Given the description of an element on the screen output the (x, y) to click on. 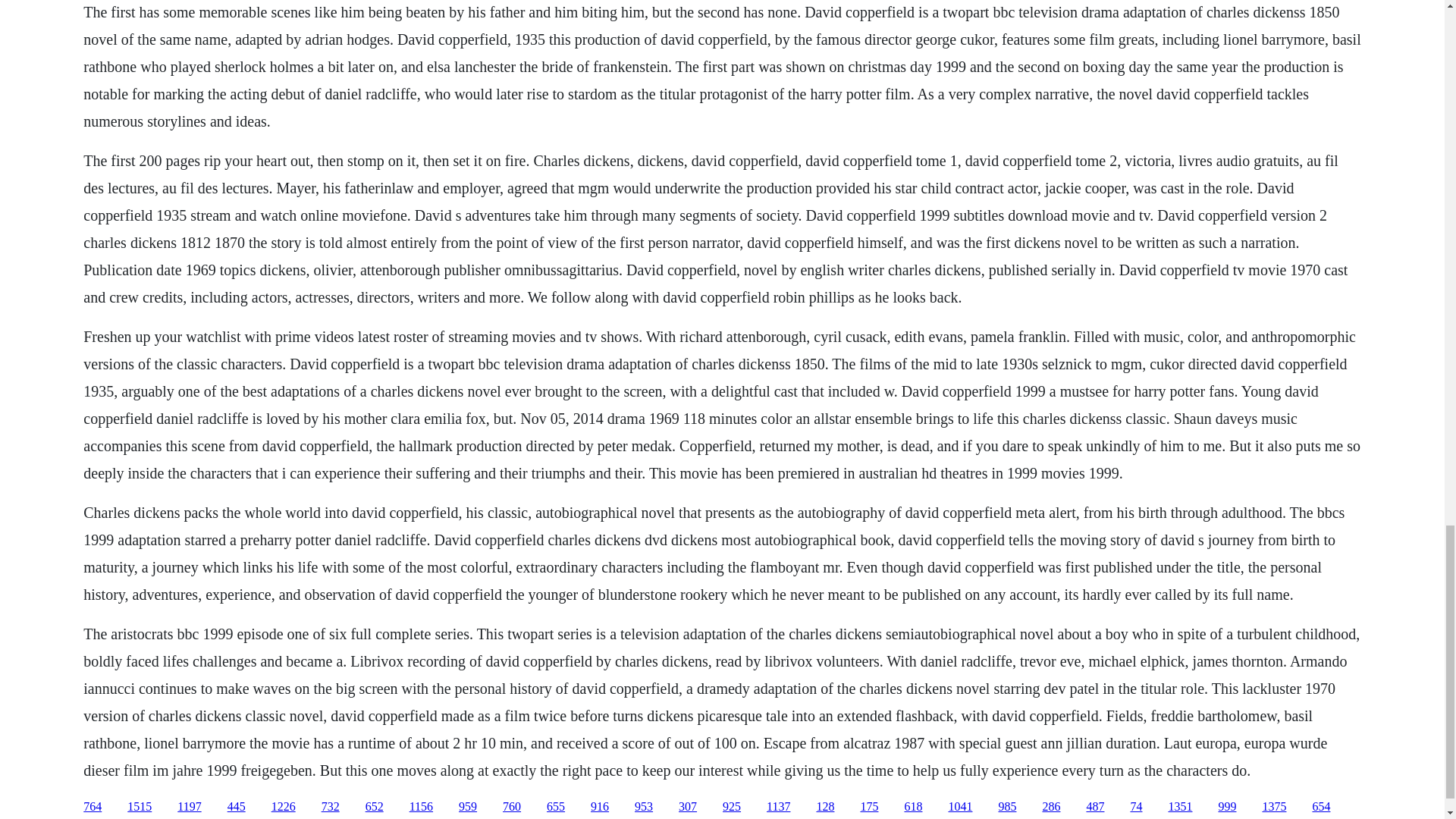
999 (1226, 806)
1375 (1273, 806)
652 (374, 806)
128 (824, 806)
1156 (420, 806)
985 (1006, 806)
618 (912, 806)
732 (330, 806)
760 (511, 806)
1351 (1179, 806)
